Given the description of an element on the screen output the (x, y) to click on. 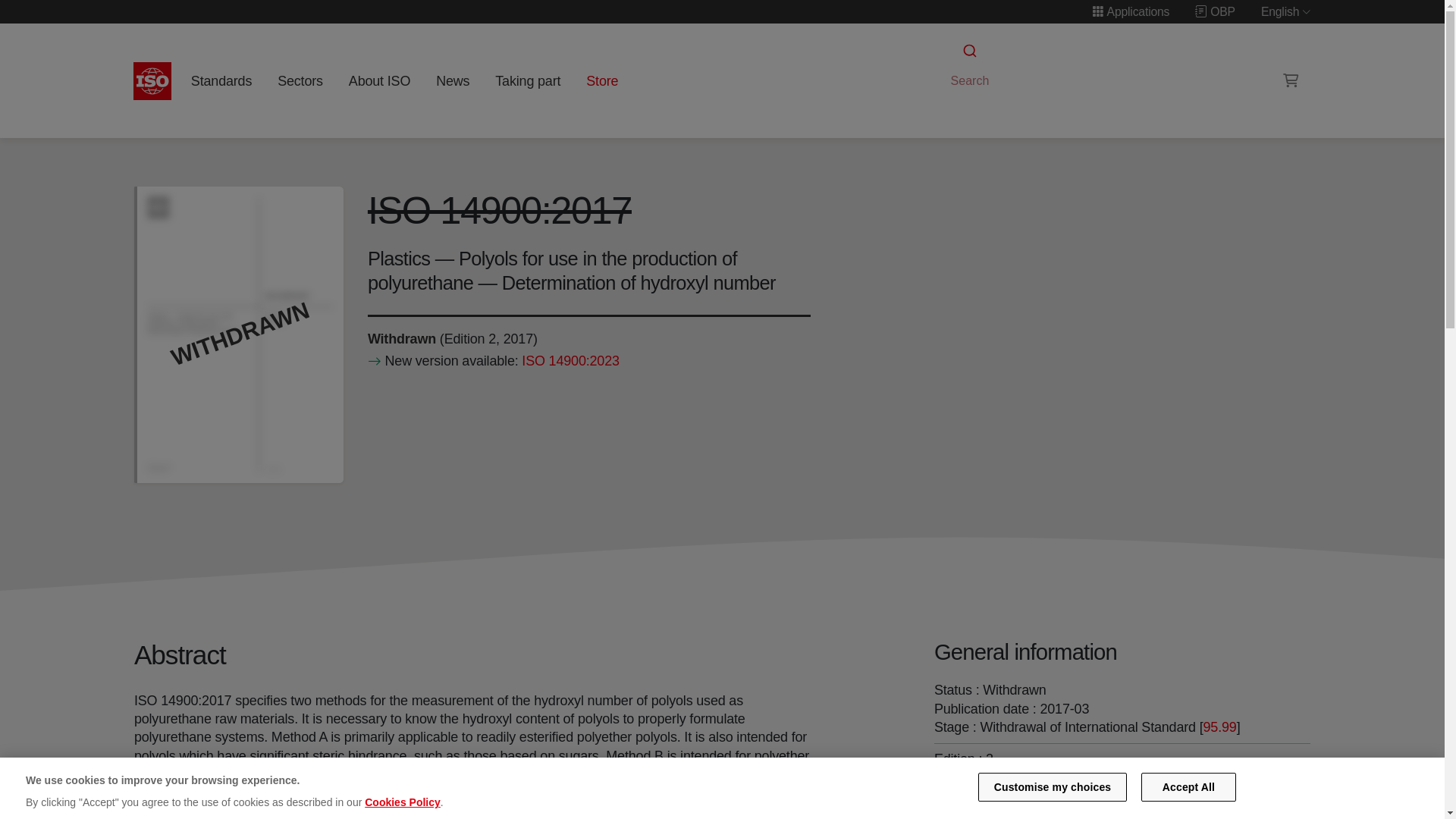
International Organization for Standardization (152, 80)
Shopping cart (1290, 80)
ISO's applications portal (1130, 11)
Store (601, 80)
English (1285, 11)
Life cycle (400, 338)
Online Browsing Platform (1214, 11)
95.99 (1220, 726)
News (452, 80)
Sectors (300, 80)
About ISO (379, 80)
Taking part (528, 80)
